Given the description of an element on the screen output the (x, y) to click on. 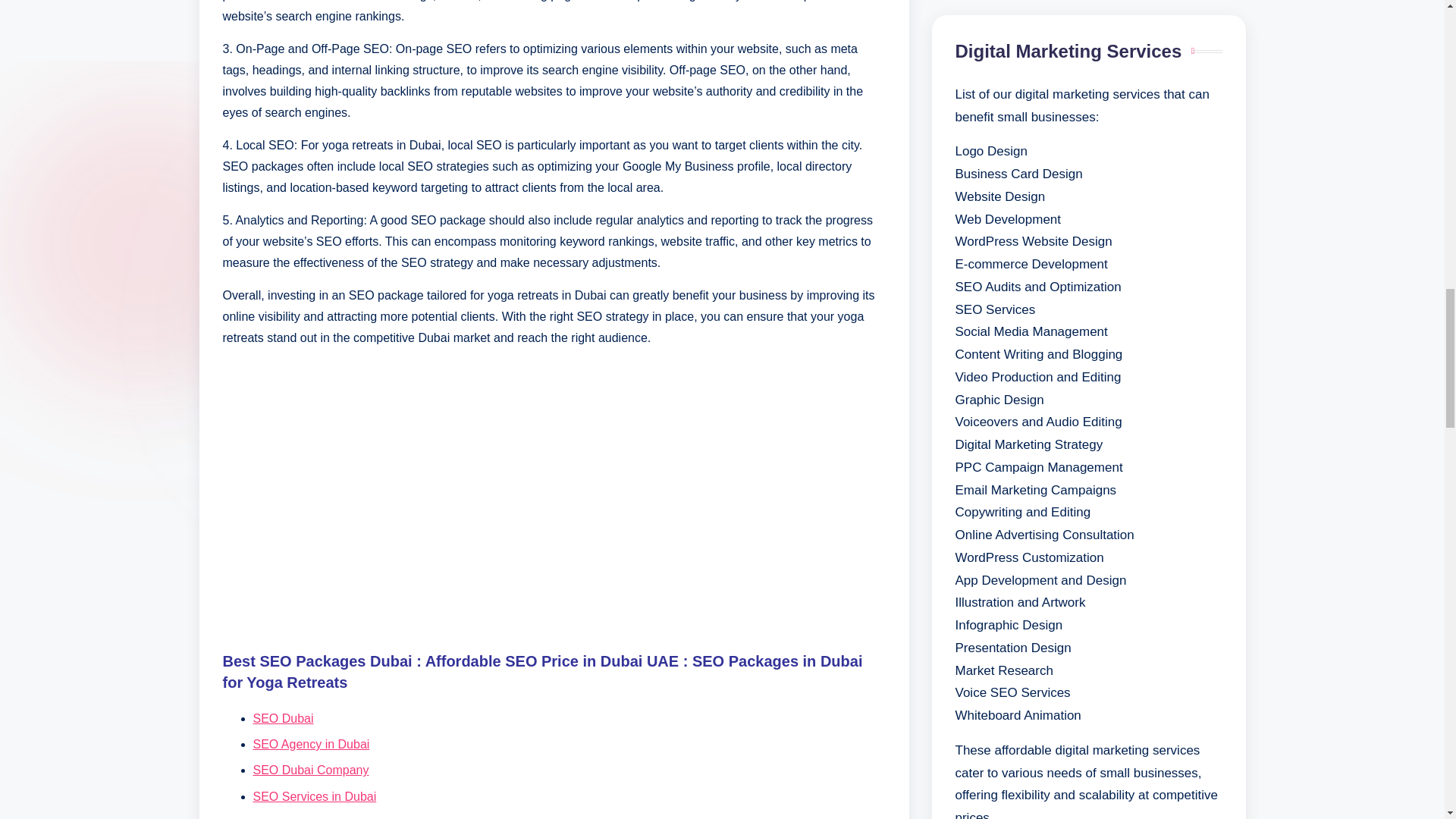
SEO Agency in Dubai (311, 744)
SEO Dubai Company (311, 769)
SEO Dubai (283, 717)
SEO Services in Dubai (315, 796)
